Given the description of an element on the screen output the (x, y) to click on. 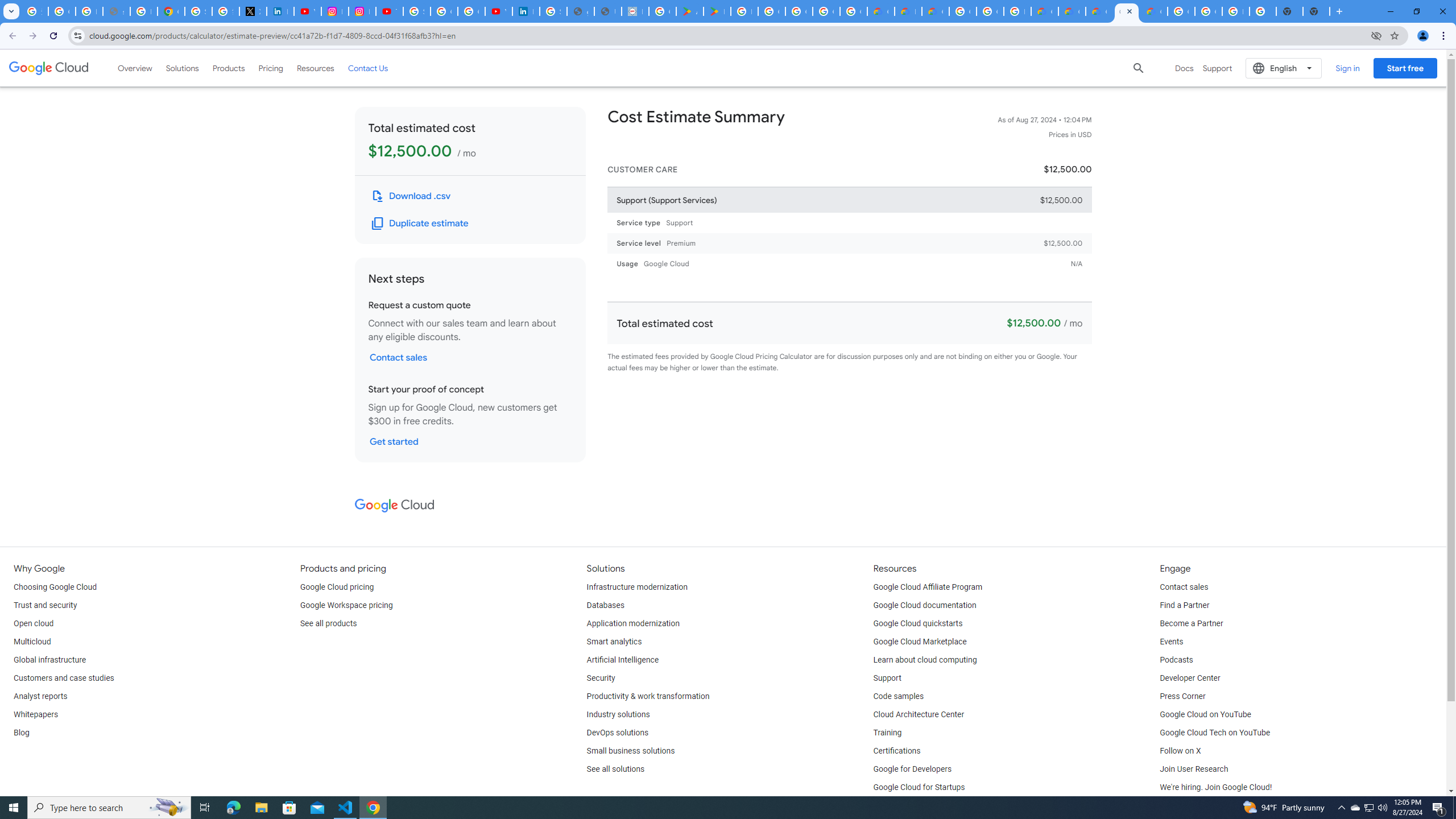
Developer Center (1189, 678)
Google Cloud pricing (336, 587)
Sign in - Google Accounts (416, 11)
Learn about cloud computing (924, 660)
Podcasts (1175, 660)
Pricing (270, 67)
New Tab (1316, 11)
Google Cloud for Startups (919, 787)
Android Apps on Google Play (690, 11)
Support (887, 678)
